Given the description of an element on the screen output the (x, y) to click on. 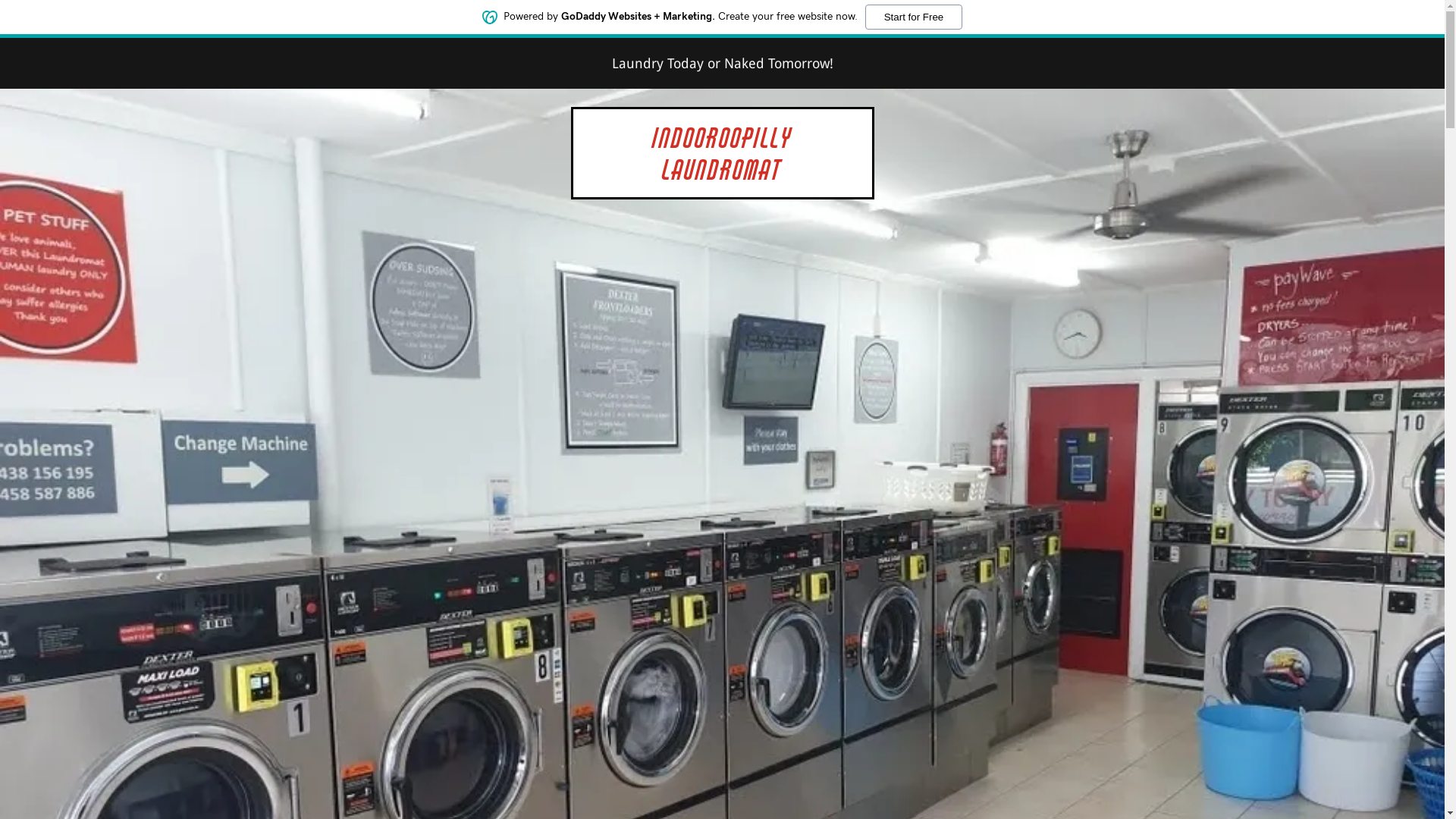
Indooroopilly Laundromat Element type: text (722, 174)
Start for Free Element type: text (914, 16)
